Given the description of an element on the screen output the (x, y) to click on. 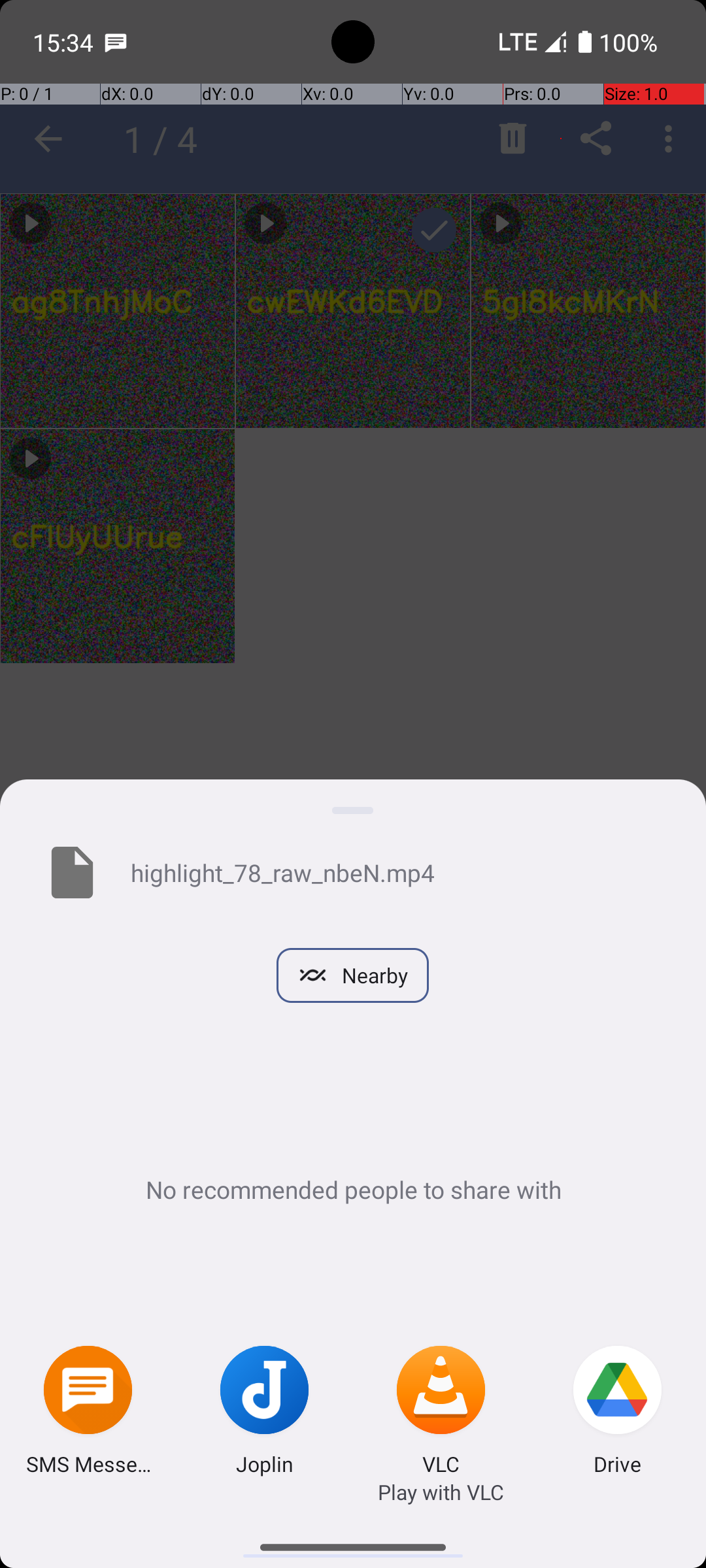
highlight_78_raw_nbeN.mp4 Element type: android.widget.TextView (397, 872)
Play with VLC Element type: android.widget.TextView (440, 1491)
